Given the description of an element on the screen output the (x, y) to click on. 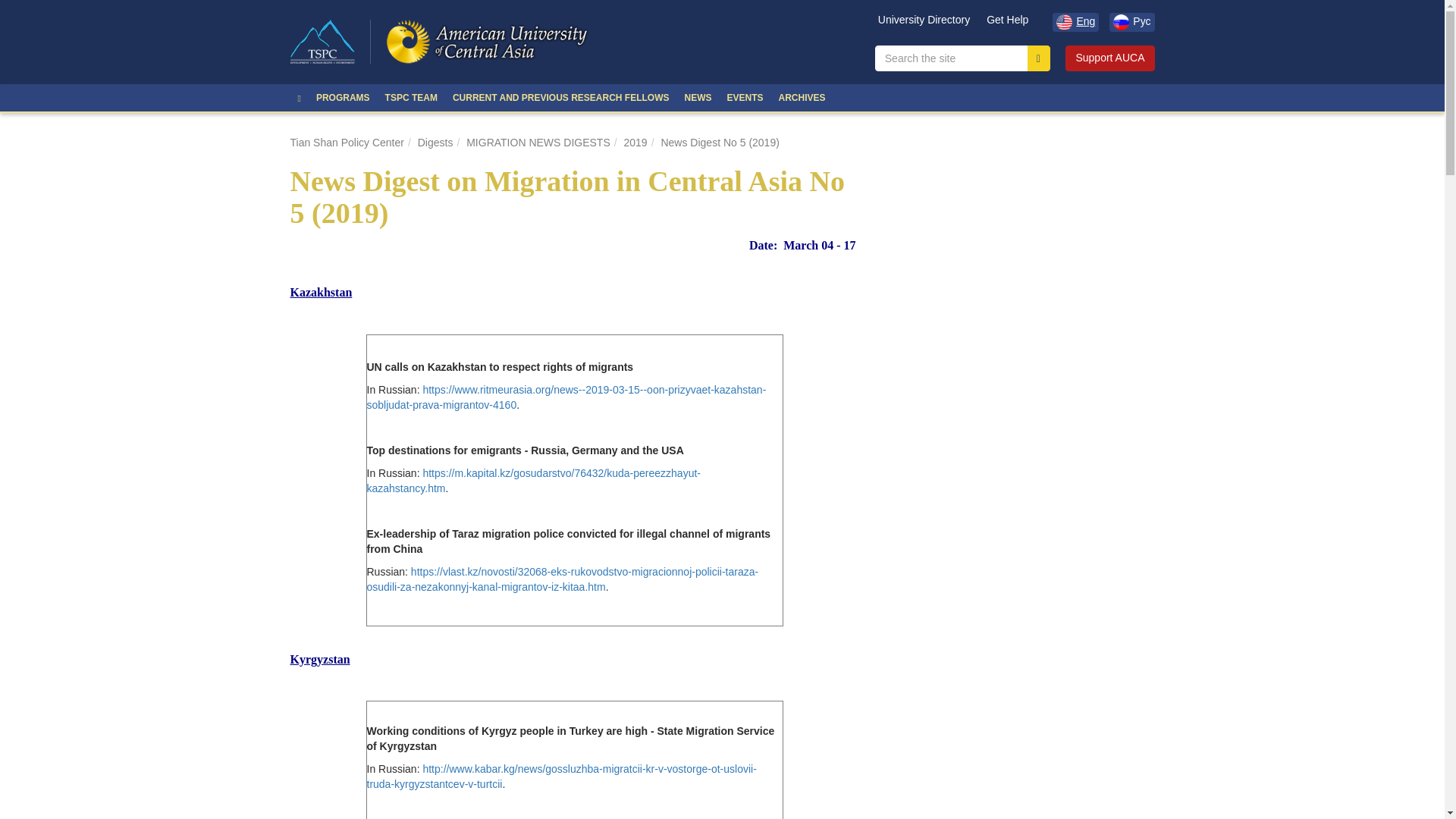
Tian Shan Policy Center (346, 142)
Support AUCA (1109, 58)
NEWS (698, 97)
EVENTS (744, 97)
ARCHIVES (801, 97)
2019 (635, 142)
University Directory (923, 22)
Get Help (1007, 22)
TSPC TEAM (411, 97)
MIGRATION NEWS DIGESTS (537, 142)
Eng (1075, 22)
CURRENT AND PREVIOUS RESEARCH FELLOWS (561, 97)
Digests (434, 142)
PROGRAMS (342, 97)
